Given the description of an element on the screen output the (x, y) to click on. 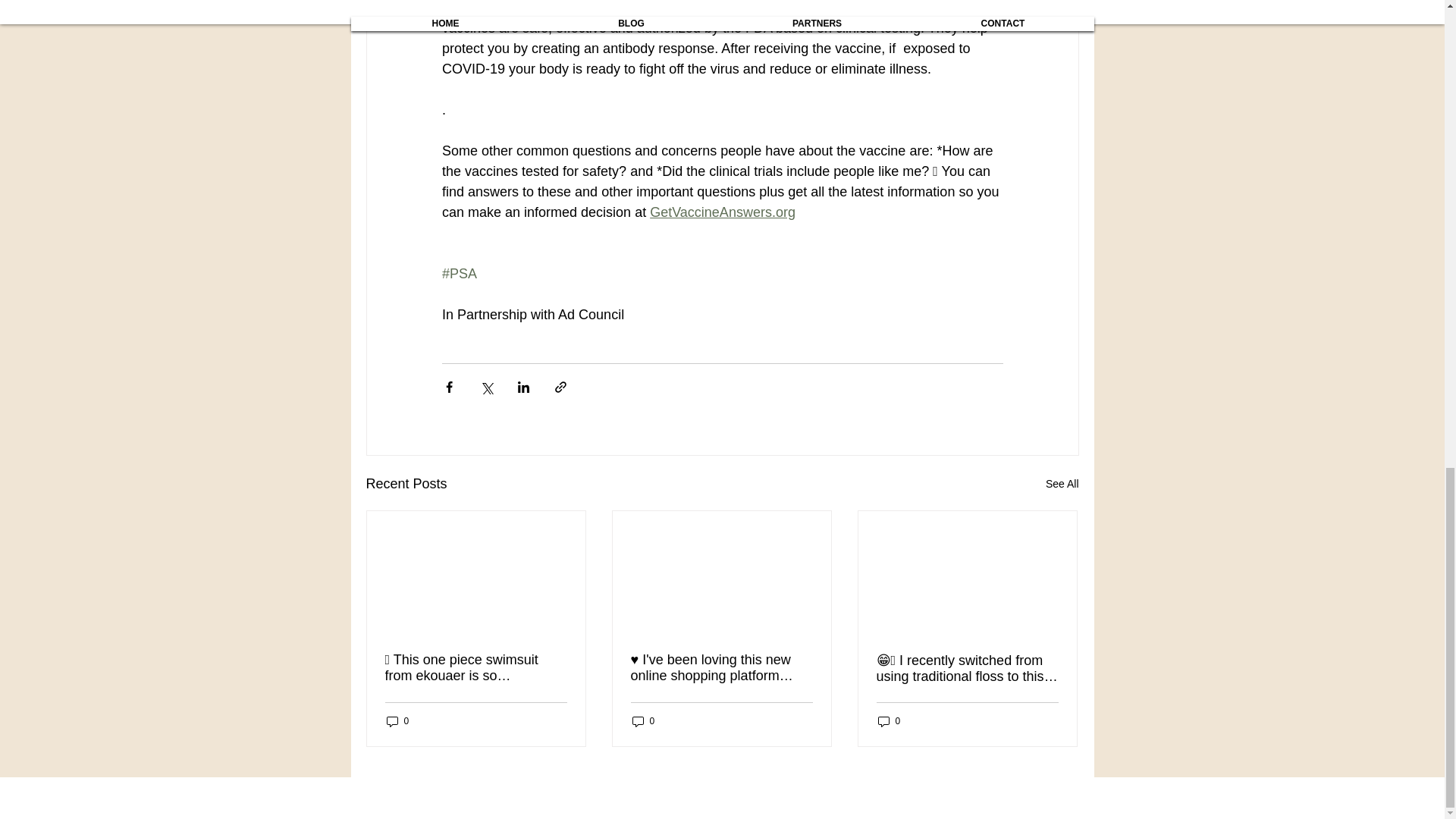
0 (889, 720)
See All (1061, 484)
GetVaccineAnswers.org (721, 212)
0 (643, 720)
0 (397, 720)
